Given the description of an element on the screen output the (x, y) to click on. 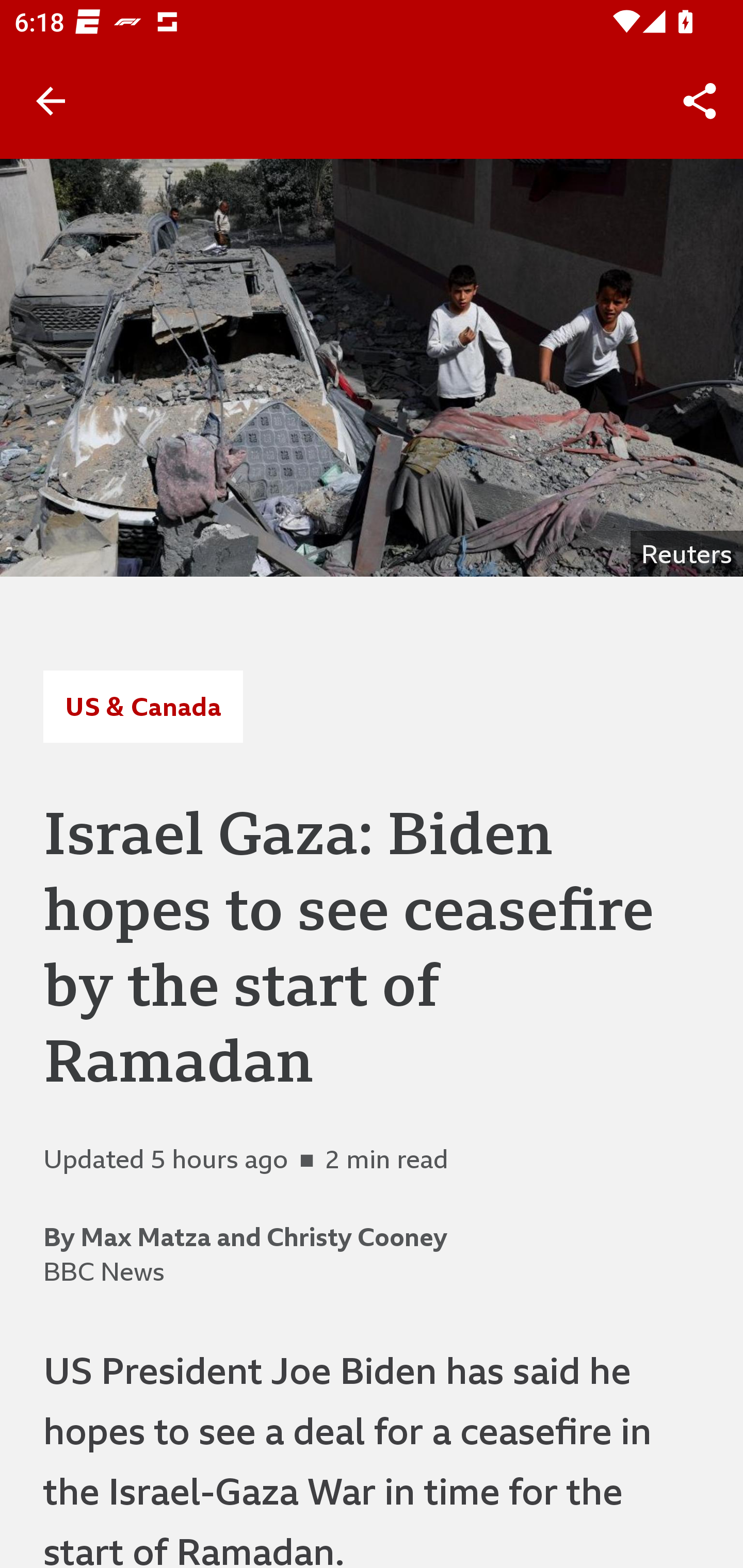
Back (50, 101)
Share (699, 101)
US & Canada (142, 706)
